Given the description of an element on the screen output the (x, y) to click on. 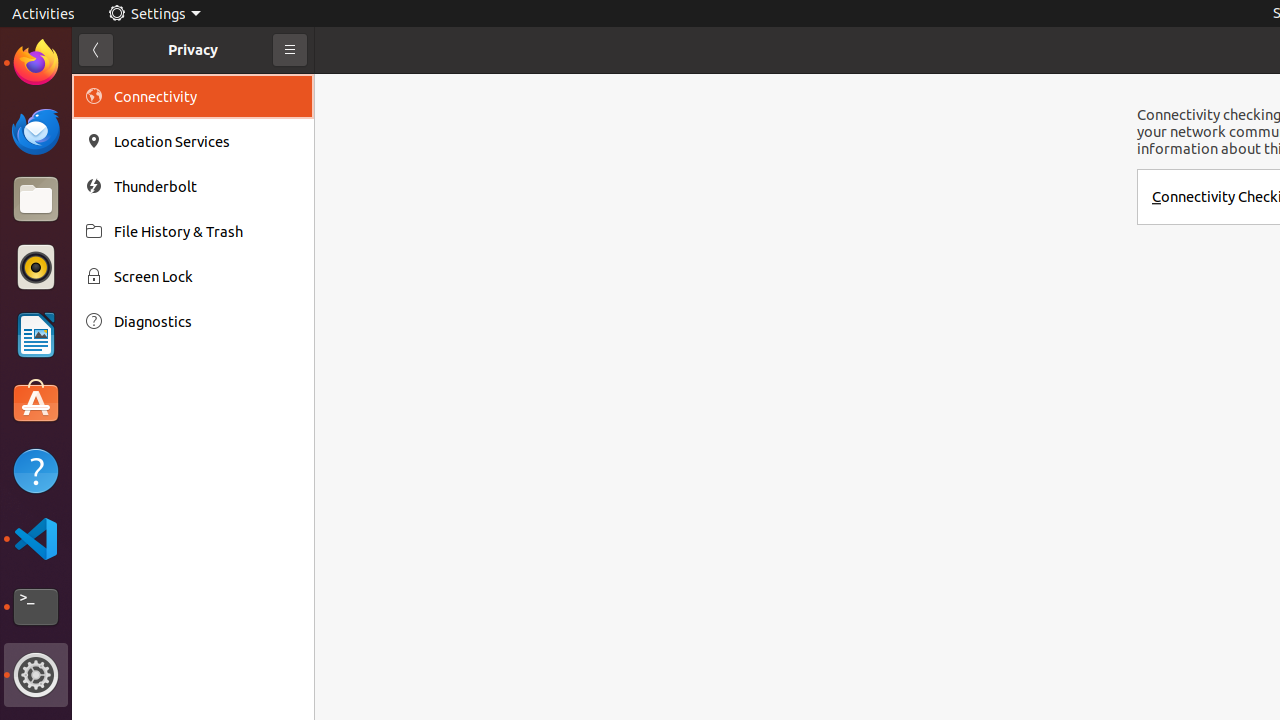
File History & Trash Element type: label (207, 231)
Activities Element type: label (43, 13)
